Given the description of an element on the screen output the (x, y) to click on. 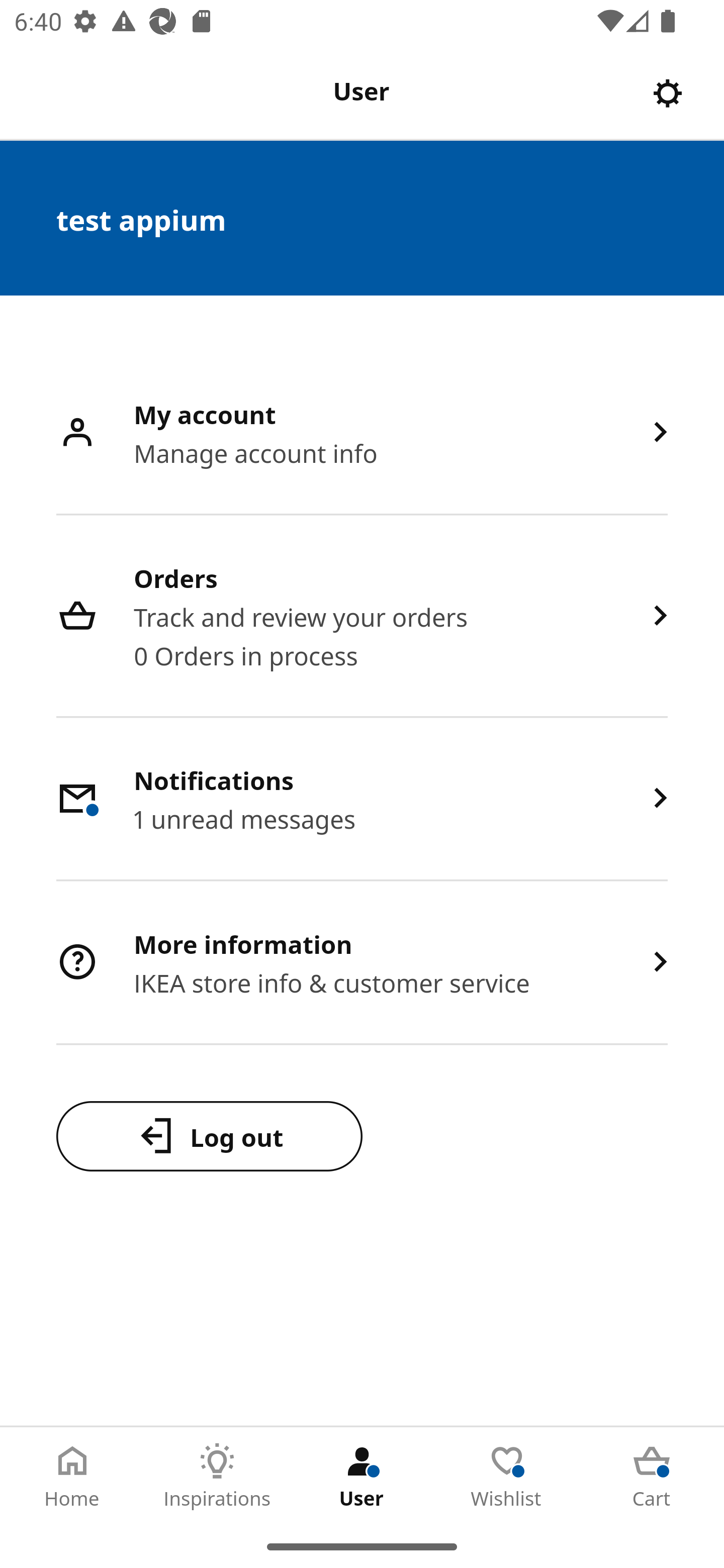
My account
Manage account info (361, 433)
Notifications
1 unread messages (361, 799)
Log out (209, 1135)
Home
Tab 1 of 5 (72, 1476)
Inspirations
Tab 2 of 5 (216, 1476)
User
Tab 3 of 5 (361, 1476)
Wishlist
Tab 4 of 5 (506, 1476)
Cart
Tab 5 of 5 (651, 1476)
